Given the description of an element on the screen output the (x, y) to click on. 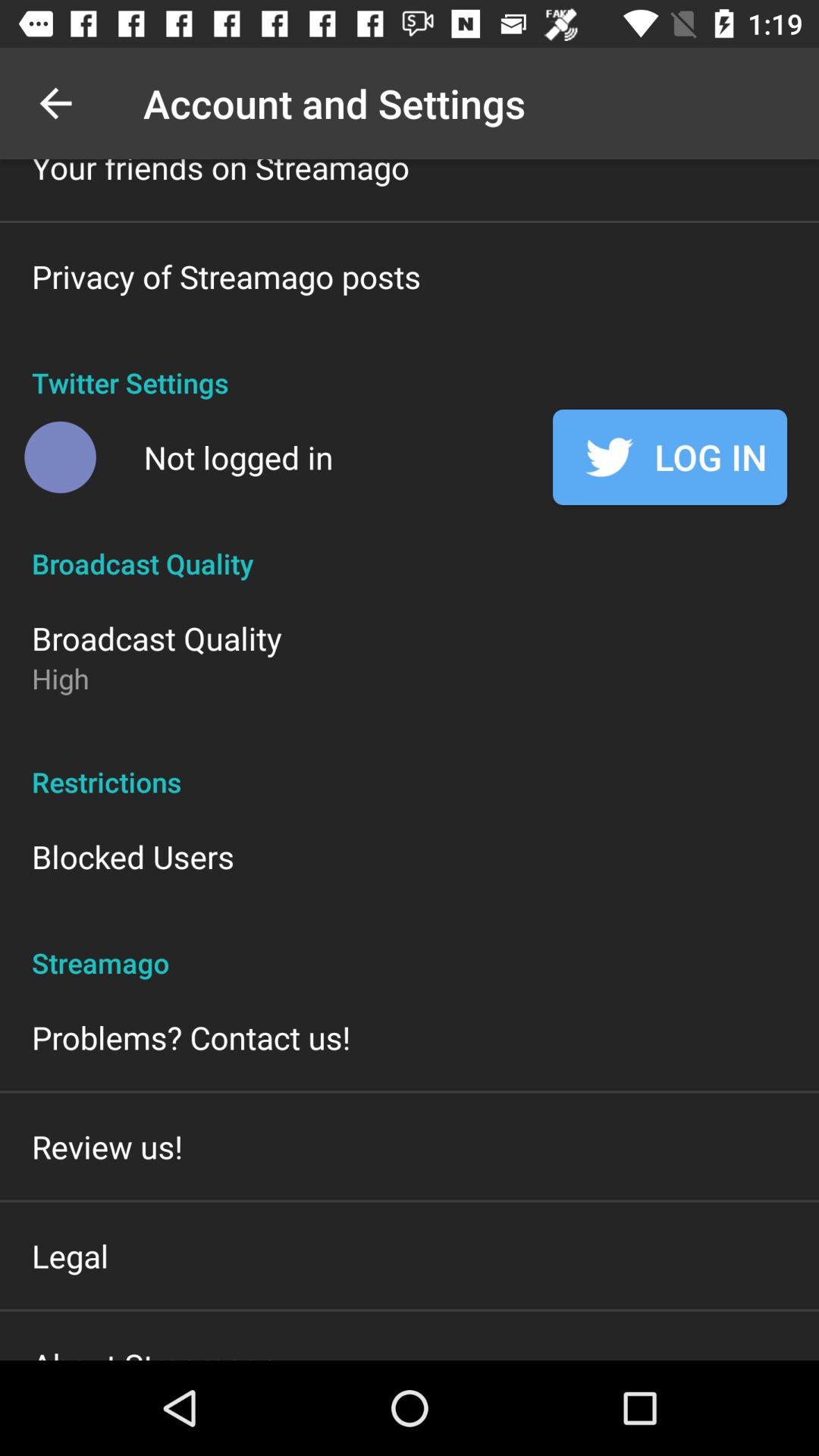
tap the item below the twitter settings (669, 457)
